Given the description of an element on the screen output the (x, y) to click on. 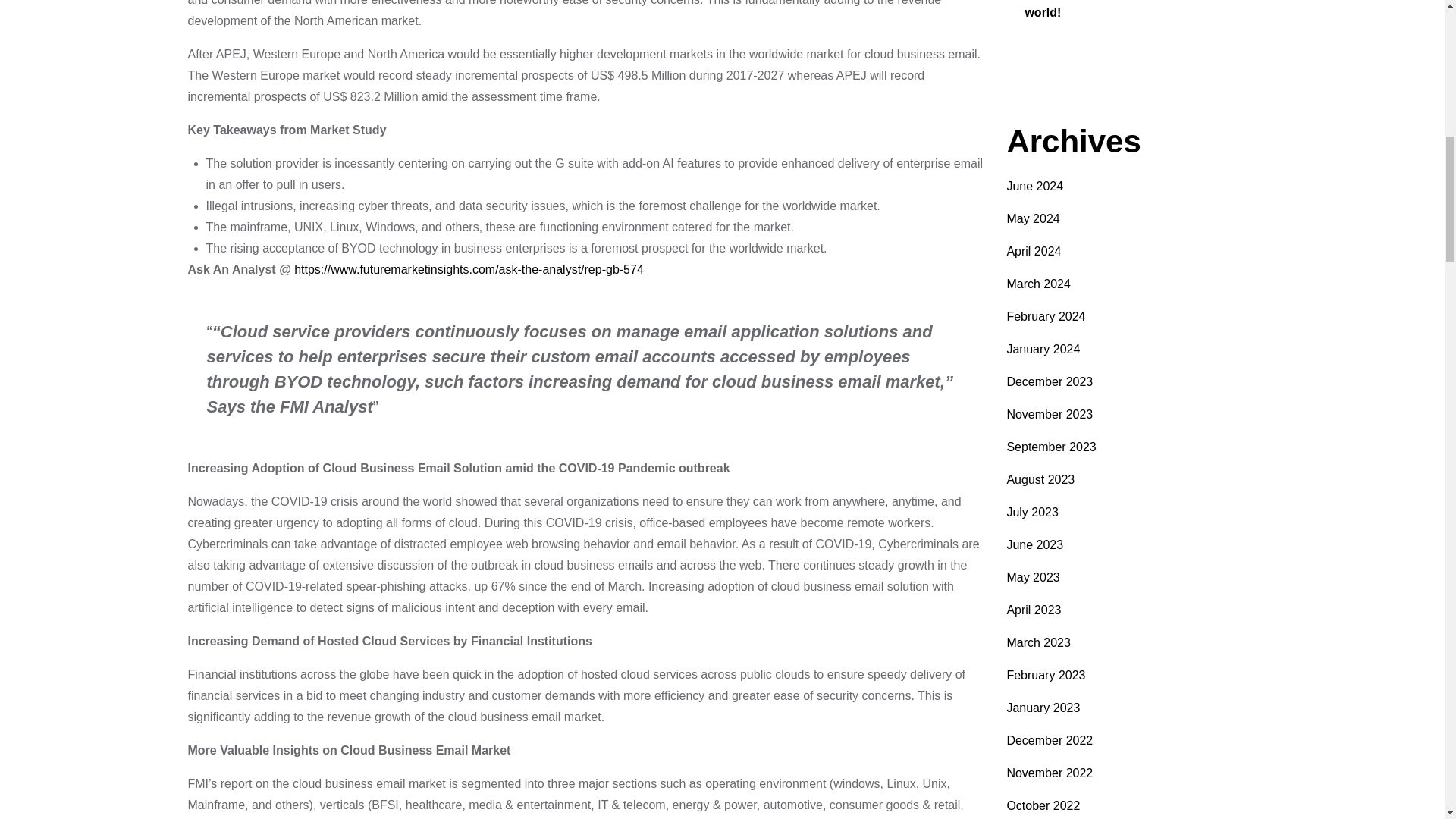
April 2023 (1033, 609)
March 2024 (1038, 283)
June 2024 (1034, 185)
August 2023 (1040, 479)
November 2023 (1049, 413)
April 2024 (1033, 250)
July 2023 (1032, 512)
January 2024 (1043, 349)
May 2024 (1032, 218)
May 2023 (1032, 576)
December 2023 (1049, 381)
Hello world! (1123, 9)
February 2024 (1045, 316)
June 2023 (1034, 544)
September 2023 (1051, 446)
